Given the description of an element on the screen output the (x, y) to click on. 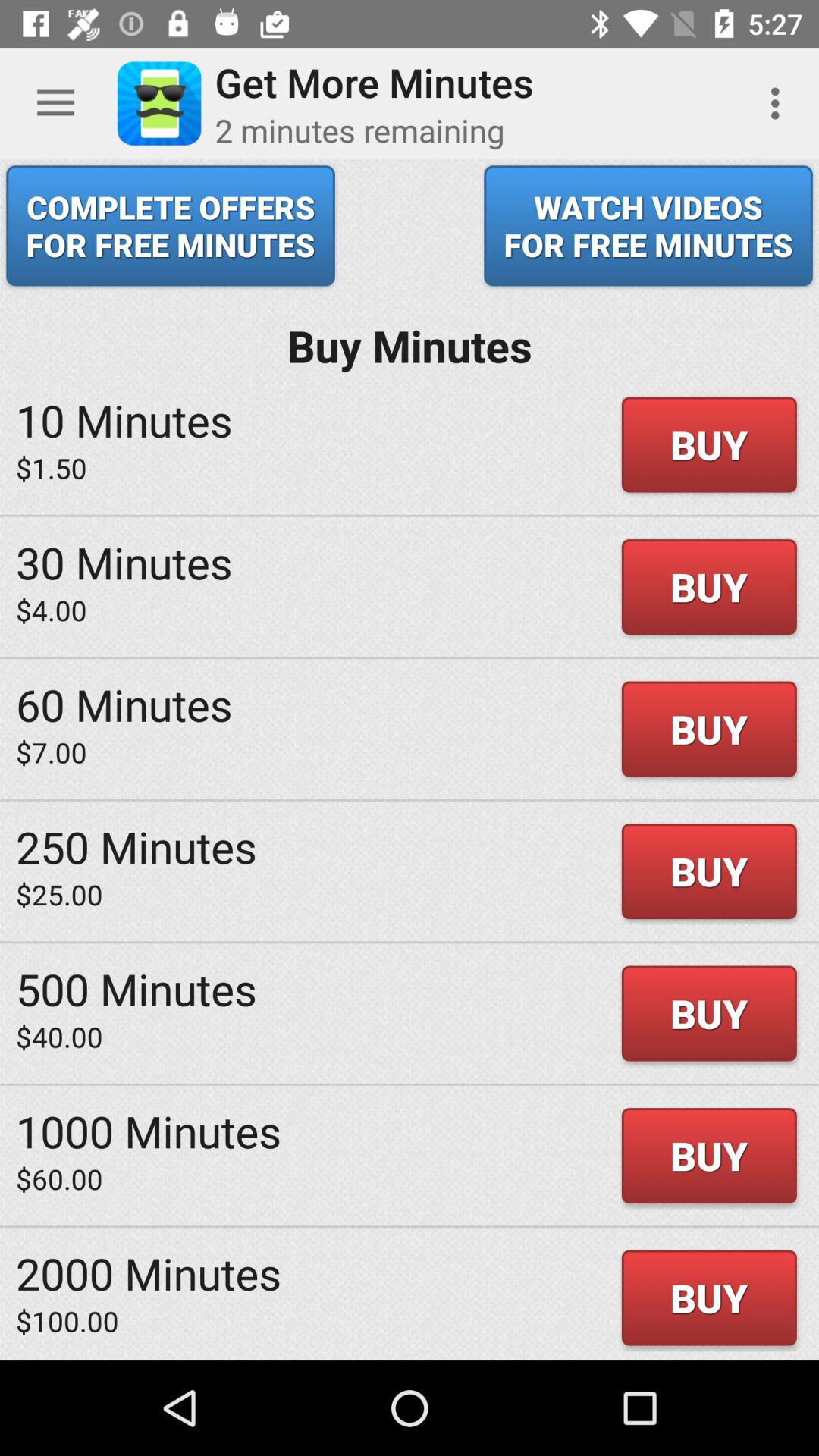
select the text which is to the immediate right of 500 minutes (708, 1013)
go to buy in first row (708, 445)
select the icon which is after menu option (159, 103)
